Given the description of an element on the screen output the (x, y) to click on. 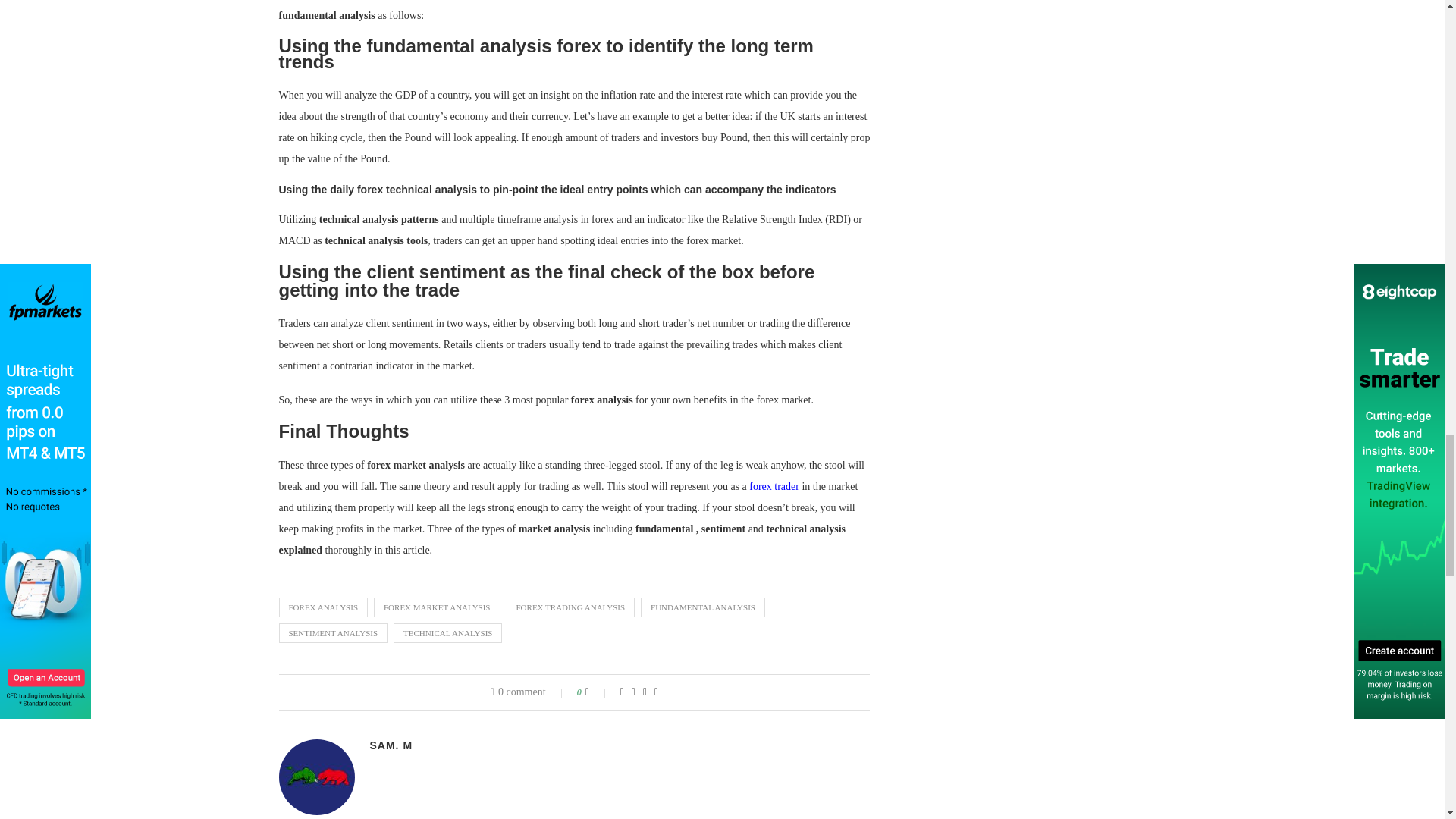
Posts by SAM. M (391, 745)
Like (597, 692)
